Given the description of an element on the screen output the (x, y) to click on. 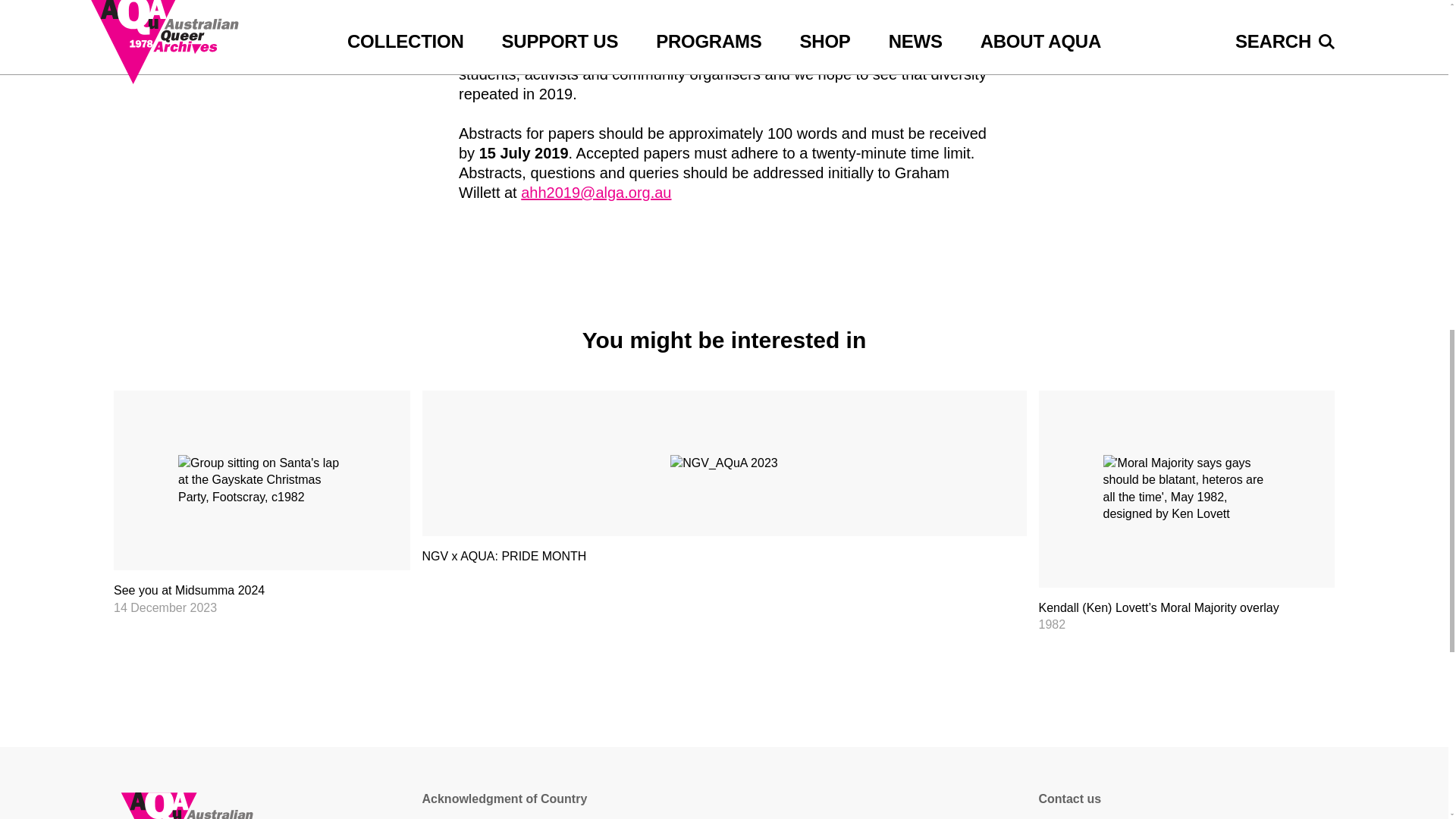
NGV x AQUA: PRIDE MONTH (724, 486)
Return Home (261, 805)
gayskate-christmas-party-1982-featured (261, 480)
See you at Midsumma 2024 (261, 503)
